Given the description of an element on the screen output the (x, y) to click on. 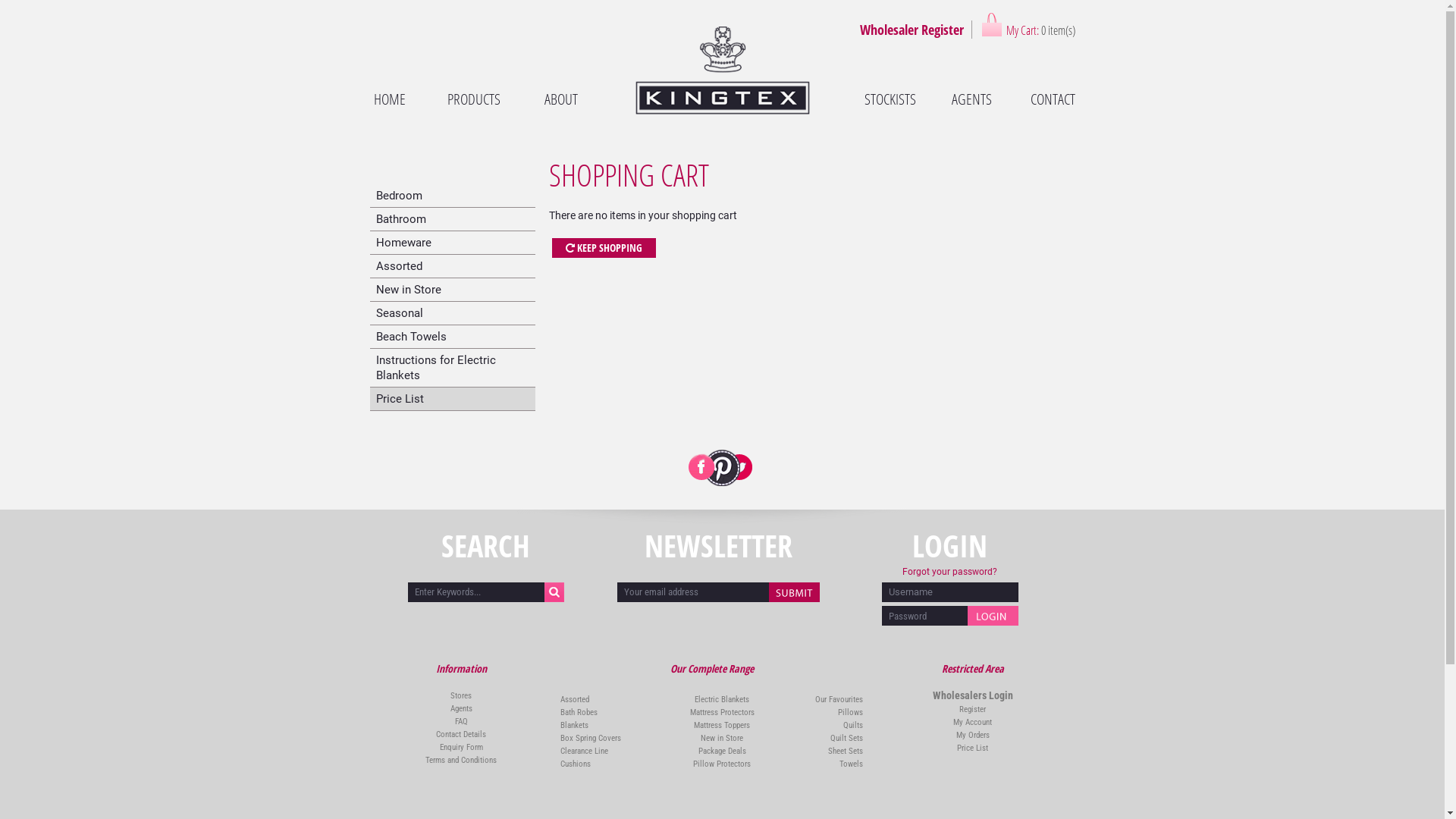
Contact Details Element type: text (461, 734)
Terms and Conditions Element type: text (460, 760)
My Account Element type: text (972, 722)
HOME Element type: text (391, 99)
Enquiry Form Element type: text (461, 747)
ABOUT Element type: text (560, 99)
Register Element type: text (972, 709)
Wholesaler Register Element type: text (912, 29)
Beach Towels Element type: text (452, 336)
Seasonal Element type: text (452, 312)
My Cart: 0 item(s) Element type: text (1027, 24)
CONTACT Element type: text (1048, 99)
Forgot your password? Element type: text (949, 571)
KEEP SHOPPING Element type: text (603, 247)
FAQ Element type: text (461, 721)
My Orders Element type: text (972, 735)
PRODUCTS Element type: text (473, 99)
New in Store Element type: text (452, 289)
Stores Element type: text (460, 695)
Agents Element type: text (461, 708)
Assorted Element type: text (452, 265)
Wholesalers Login Element type: text (972, 695)
Price List Element type: text (972, 748)
AGENTS Element type: text (970, 99)
Bathroom Element type: text (452, 218)
Homeware Element type: text (452, 242)
Bedroom Element type: text (452, 195)
STOCKISTS Element type: text (889, 99)
Price List Element type: text (452, 398)
Instructions for Electric Blankets Element type: text (452, 367)
